Given the description of an element on the screen output the (x, y) to click on. 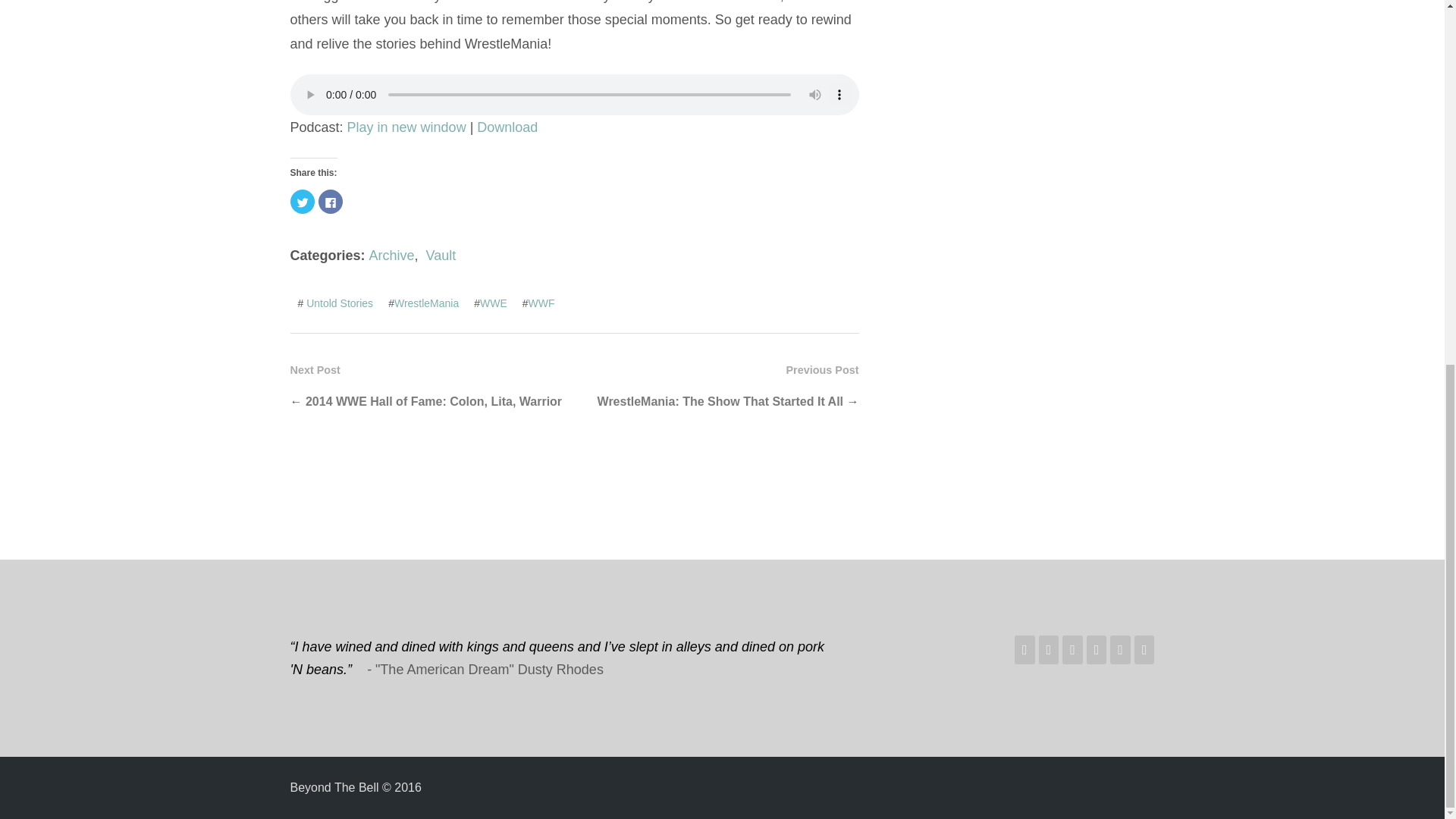
Archive (391, 255)
Play in new window (406, 127)
Download (507, 127)
WWF (541, 303)
Download (507, 127)
Play in new window (406, 127)
WrestleMania (426, 303)
Untold Stories (338, 303)
WWE (493, 303)
Click to share on Twitter (301, 201)
